Given the description of an element on the screen output the (x, y) to click on. 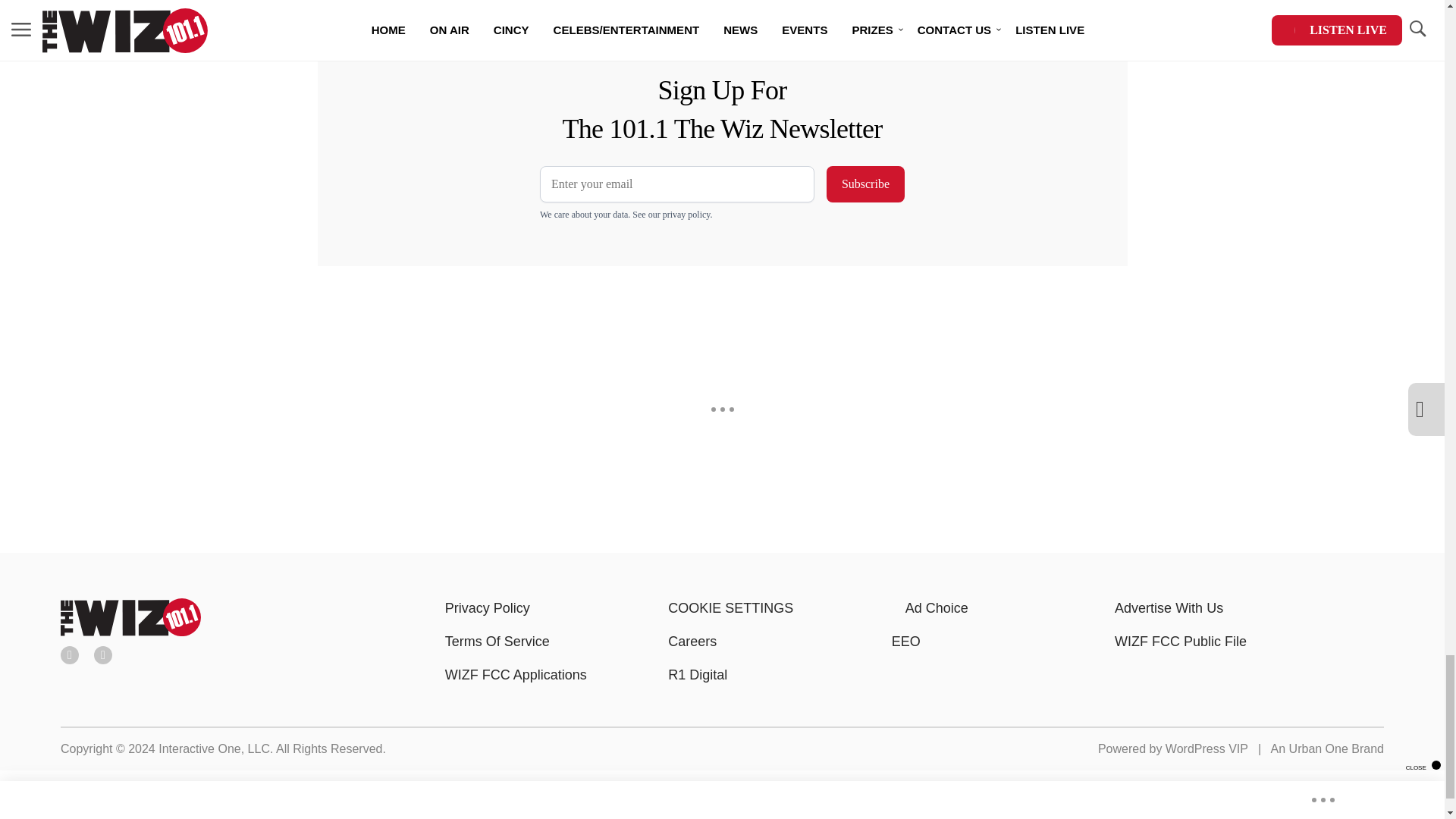
Comment Form (585, 12)
